Given the description of an element on the screen output the (x, y) to click on. 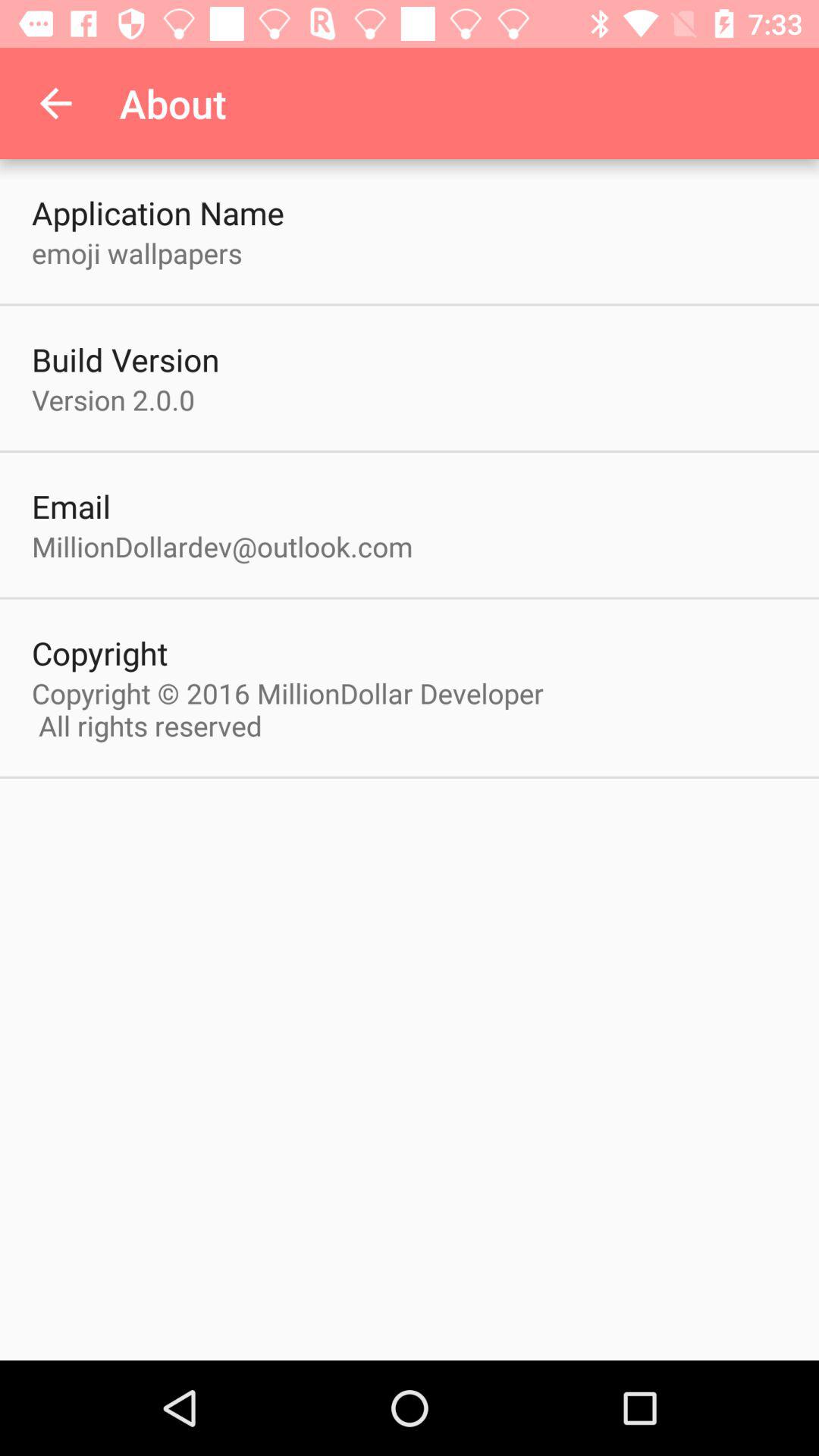
press the icon next to the about icon (55, 103)
